Given the description of an element on the screen output the (x, y) to click on. 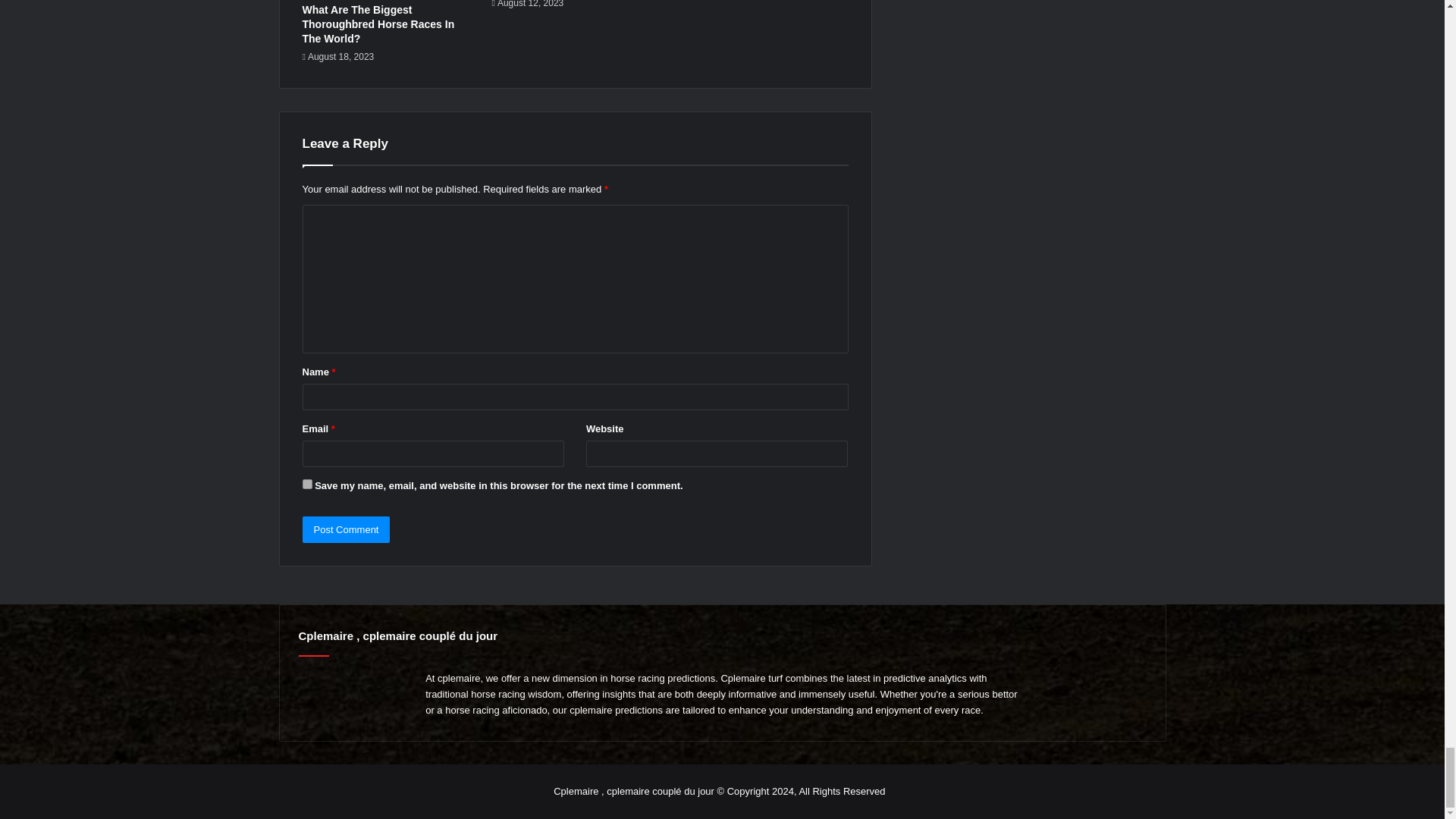
Post Comment (345, 529)
yes (306, 483)
